Given the description of an element on the screen output the (x, y) to click on. 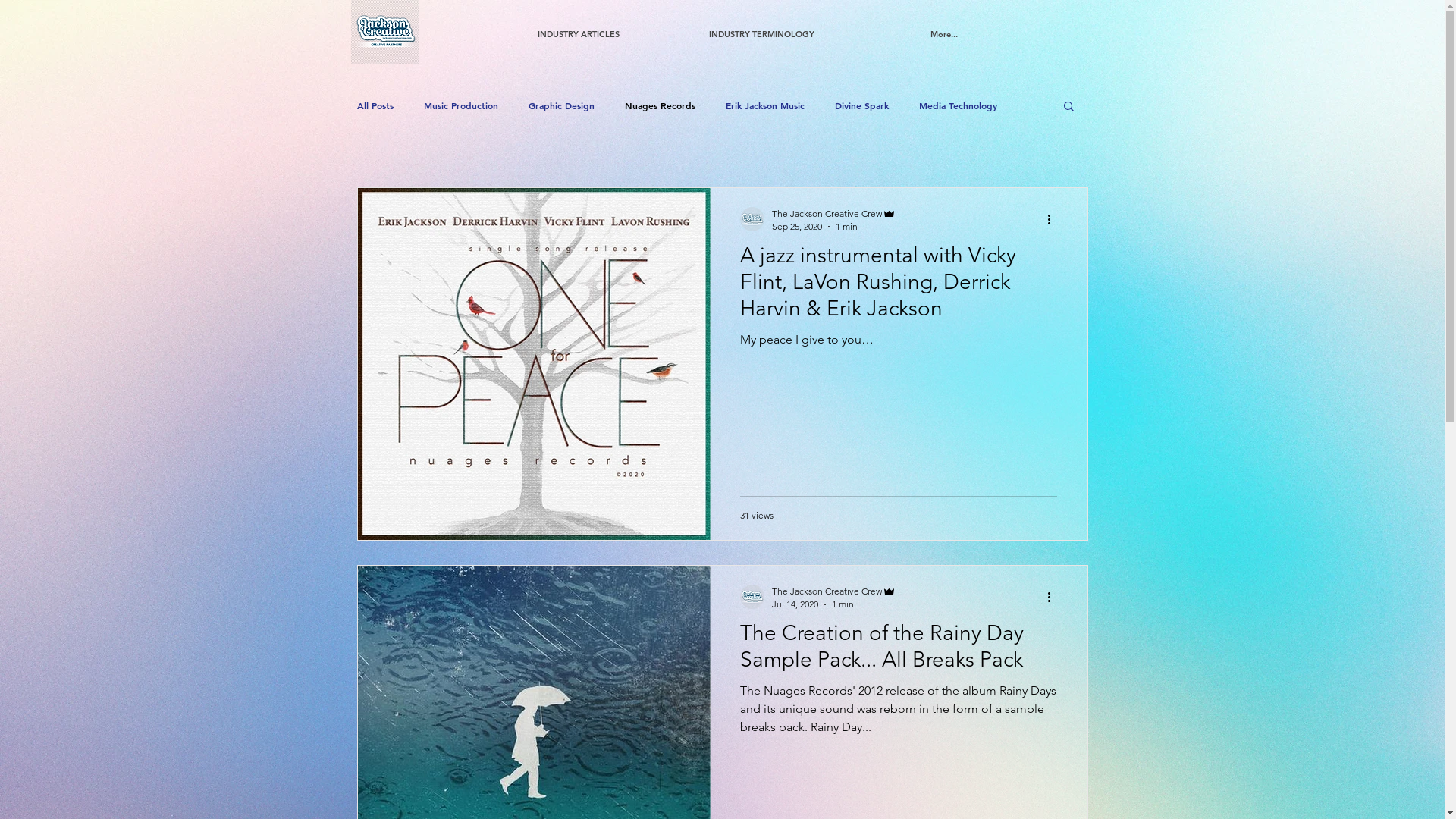
Divine Spark Element type: text (861, 105)
The Creation of the Rainy Day Sample Pack... All Breaks Pack Element type: text (898, 649)
Nuages Records Element type: text (659, 105)
The Jackson Creative Crew Element type: text (833, 590)
Graphic Design Element type: text (560, 105)
INDUSTRY ARTICLES Element type: text (577, 27)
Media Technology Element type: text (958, 105)
Music Production Element type: text (460, 105)
All Posts Element type: text (374, 105)
Erik Jackson Music Element type: text (763, 105)
The Jackson Creative Crew Element type: text (833, 213)
INDUSTRY TERMINOLOGY Element type: text (761, 27)
